Given the description of an element on the screen output the (x, y) to click on. 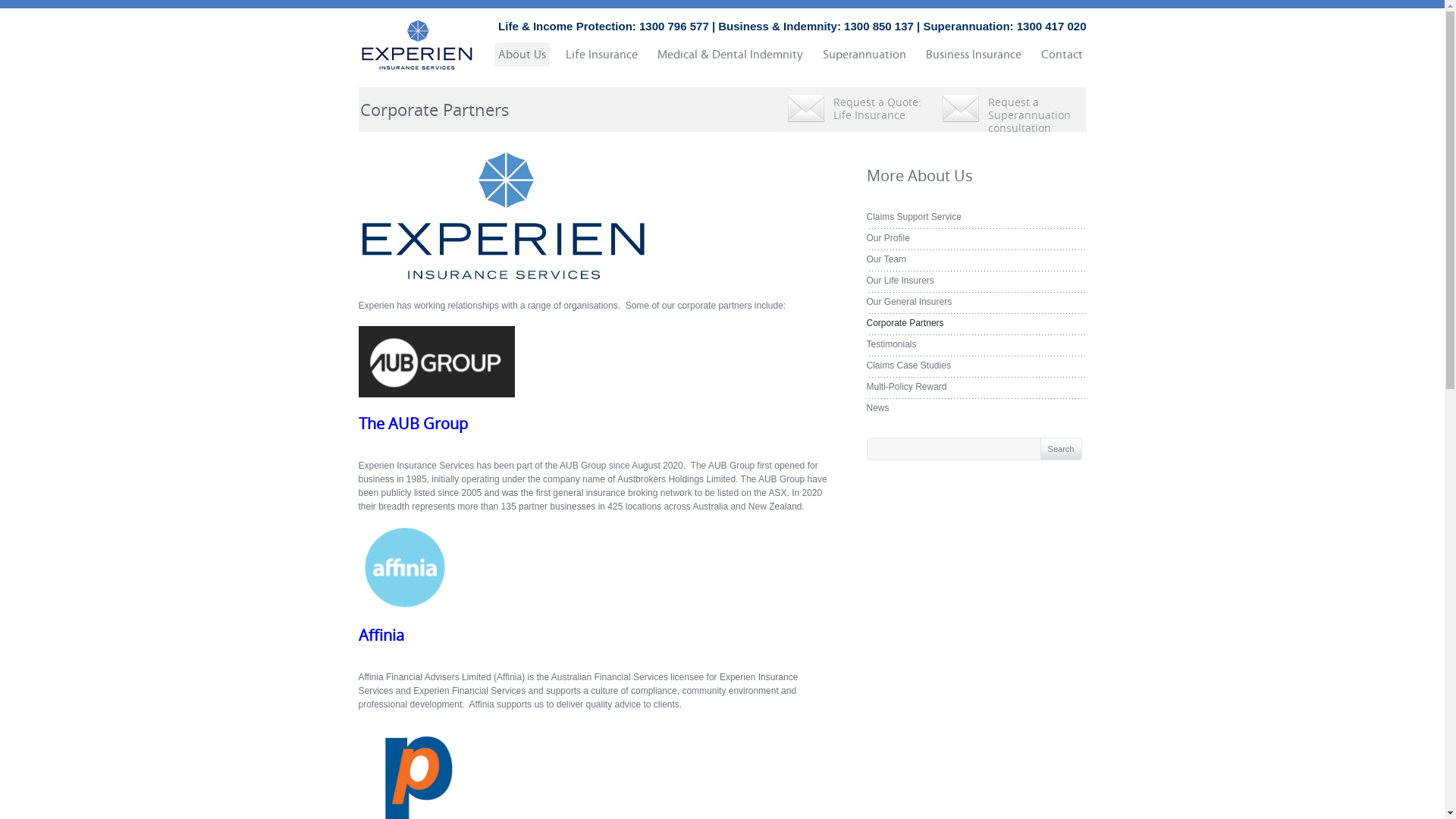
Medical & Dental Indemnity Element type: text (729, 54)
About Us Element type: text (521, 54)
Corporate Partners Element type: text (904, 322)
Request a Superannuation consultation Element type: text (1009, 109)
Contact Element type: text (1061, 54)
Life Insurance Element type: text (600, 54)
Search Element type: text (1061, 448)
Claims Case Studies Element type: text (908, 365)
Our Team Element type: text (885, 259)
News Element type: text (877, 407)
Testimonials Element type: text (891, 343)
Request a Quote: Life Insurance Element type: text (855, 109)
Superannuation Element type: text (864, 54)
Our Life Insurers Element type: text (899, 280)
Affinia Element type: text (380, 635)
The AUB Group Element type: text (412, 423)
Our General Insurers Element type: text (908, 301)
Business Insurance Element type: text (973, 54)
Multi-Policy Reward Element type: text (906, 386)
Our Profile Element type: text (887, 237)
Claims Support Service Element type: text (913, 216)
